Given the description of an element on the screen output the (x, y) to click on. 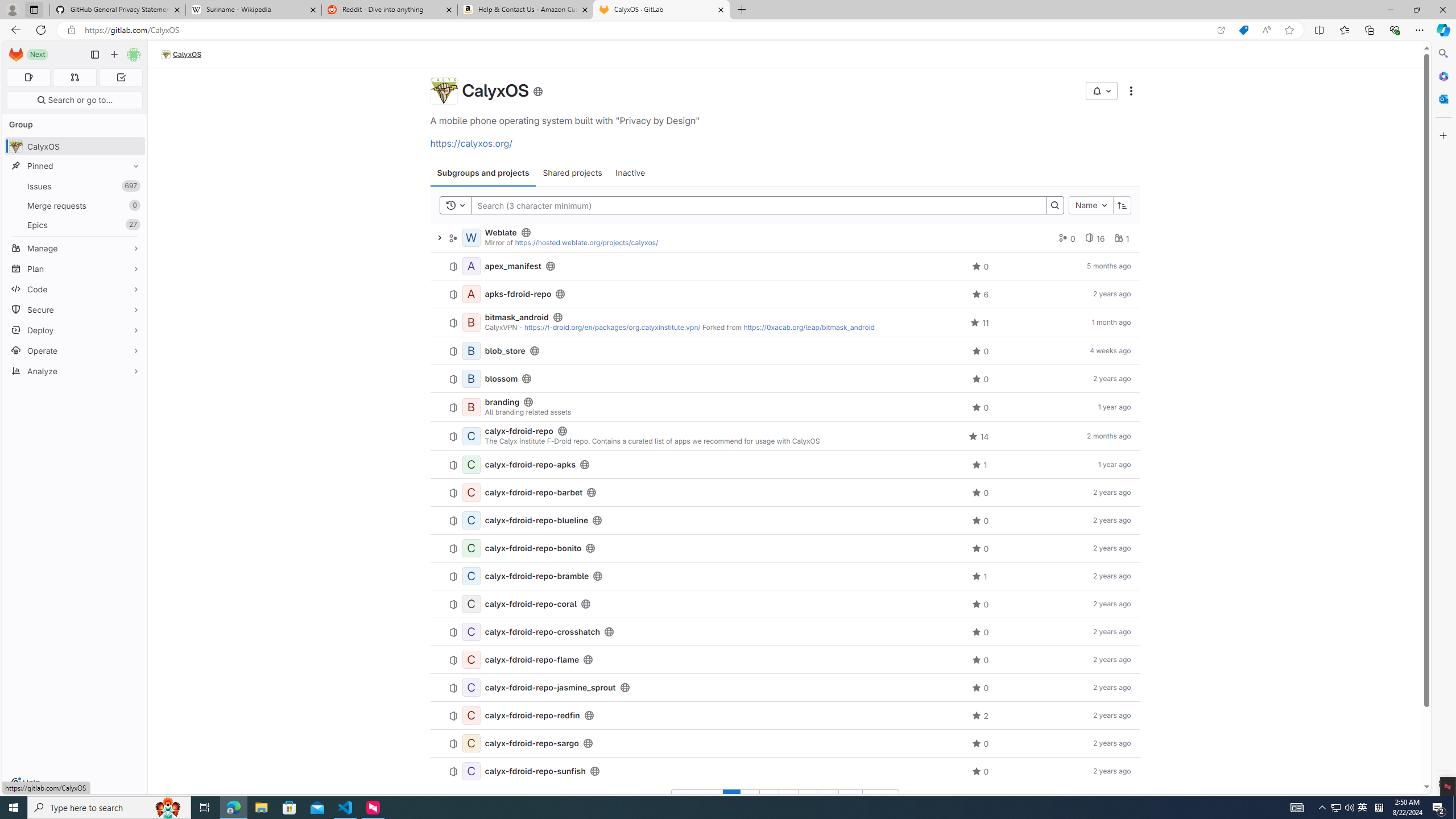
Aapks-fdroid-repo62 years ago (784, 293)
1 (731, 799)
calyx-fdroid-repo-sunfish (534, 770)
Create new... (113, 54)
calyx-fdroid-repo-jasmine_sprout (549, 687)
Subgroups and projects (482, 172)
3 (768, 799)
Deploy (74, 330)
Go to page 4 (787, 799)
calyx-fdroid-repo-bonito (533, 547)
To-Do list 0 (120, 76)
Unpin Merge requests (132, 205)
Ccalyx-fdroid-repo-flame02 years ago (784, 660)
